Given the description of an element on the screen output the (x, y) to click on. 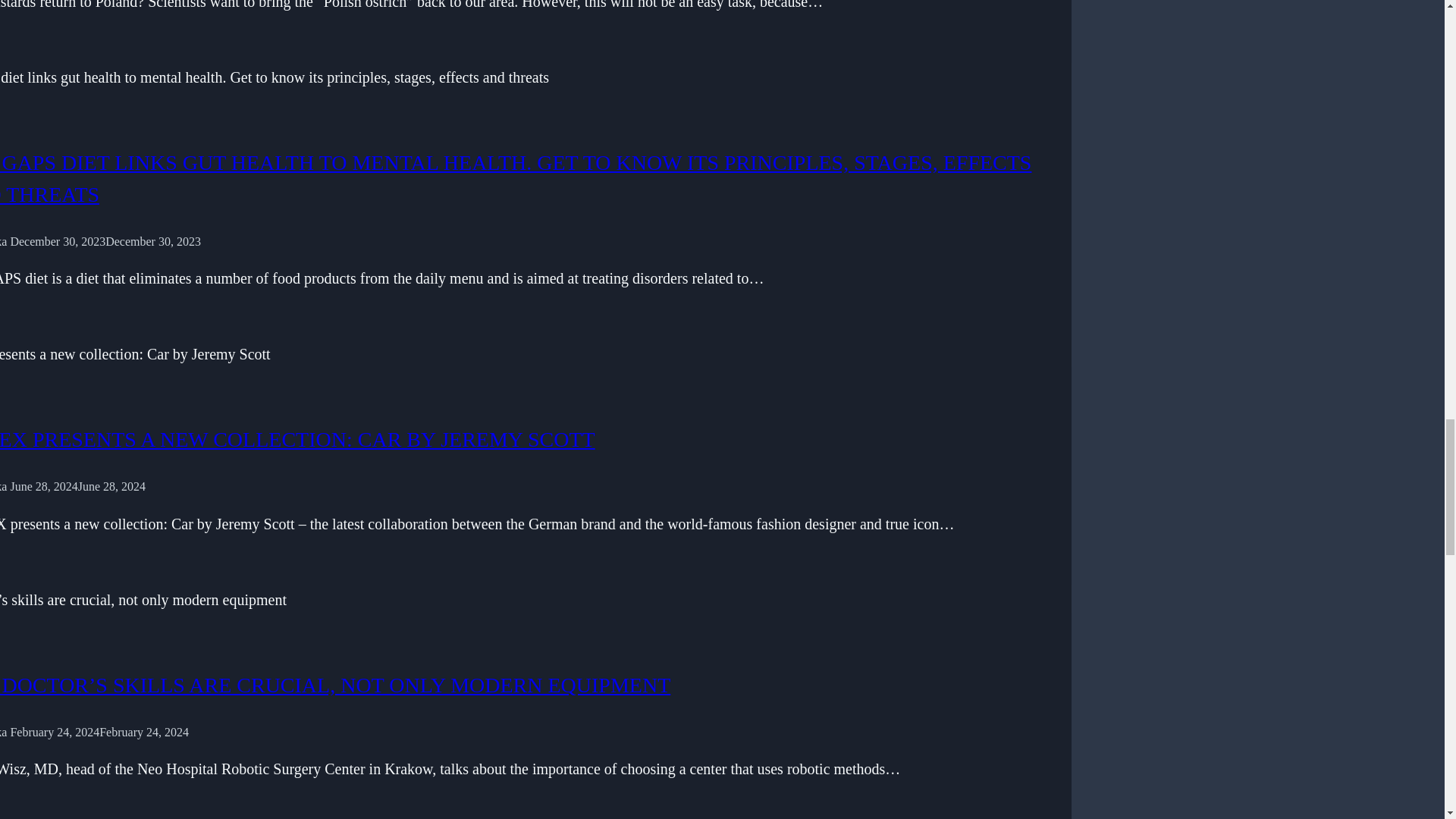
CYBEX PRESENTS A NEW COLLECTION: CAR BY JEREMY SCOTT (297, 439)
